Given the description of an element on the screen output the (x, y) to click on. 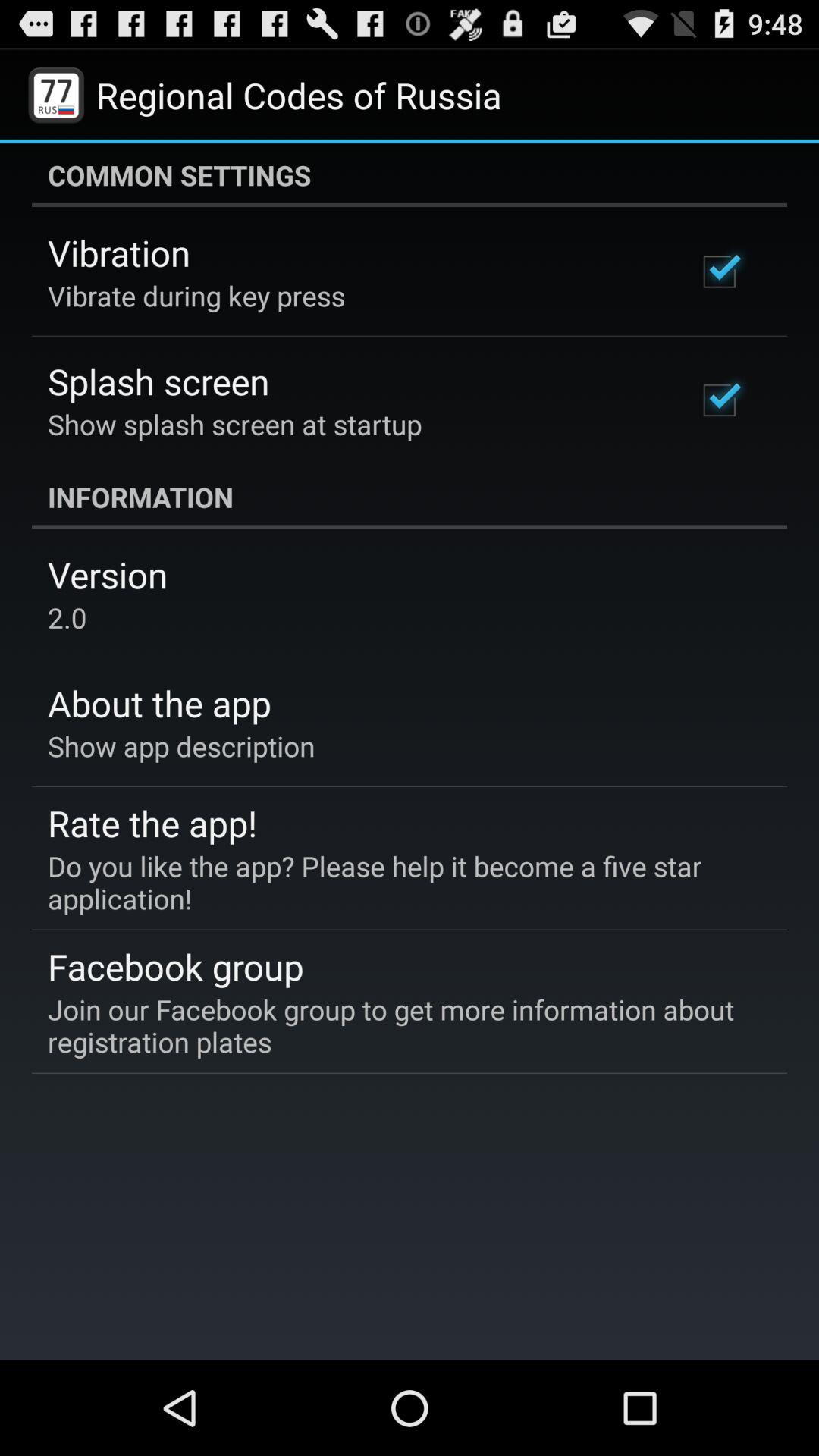
turn off 2.0 icon (67, 617)
